Given the description of an element on the screen output the (x, y) to click on. 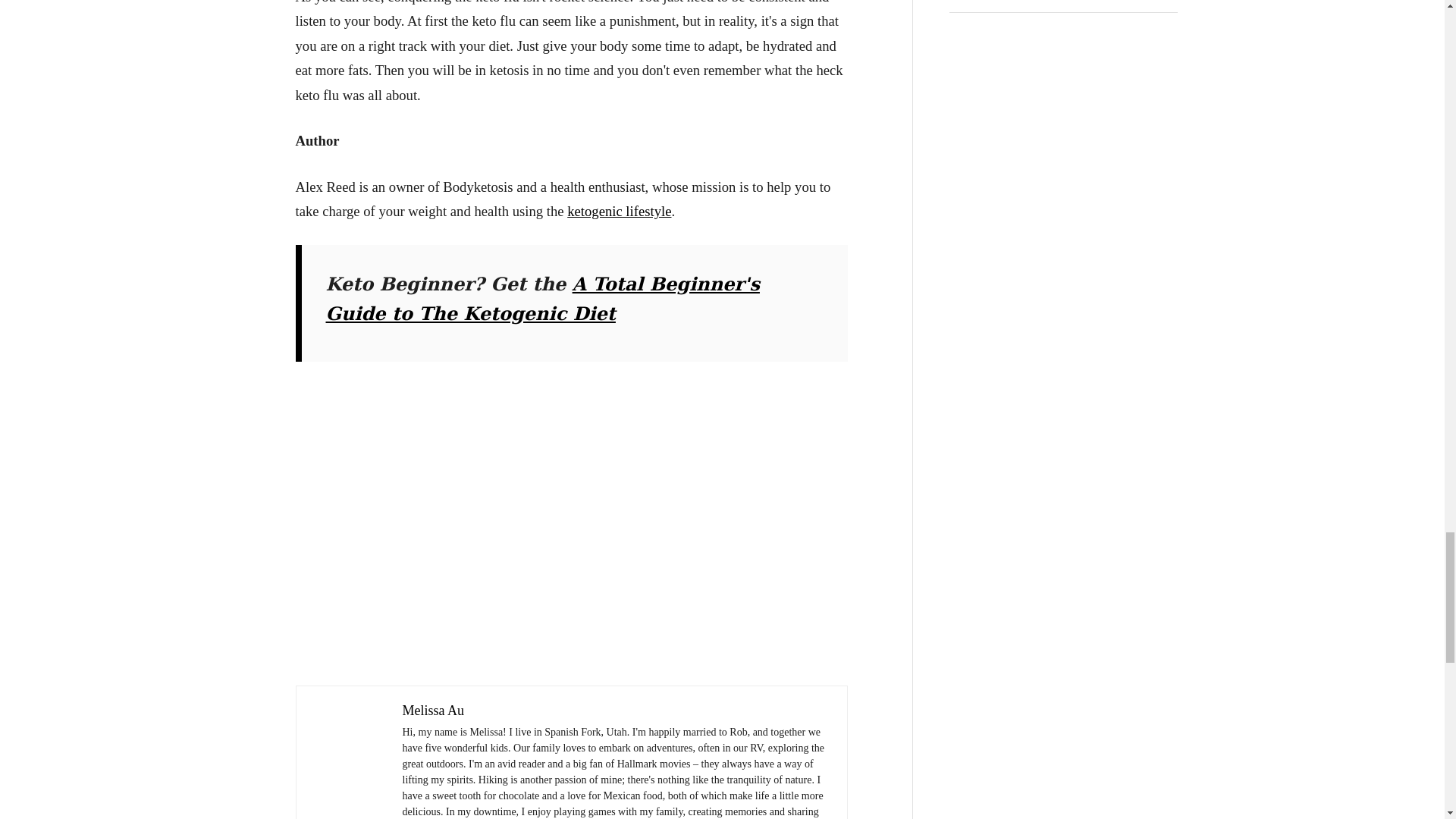
Melissa Au (432, 709)
A Total Beginner's Guide to The Ketogenic Diet (543, 298)
ketogenic lifestyle (619, 211)
